Given the description of an element on the screen output the (x, y) to click on. 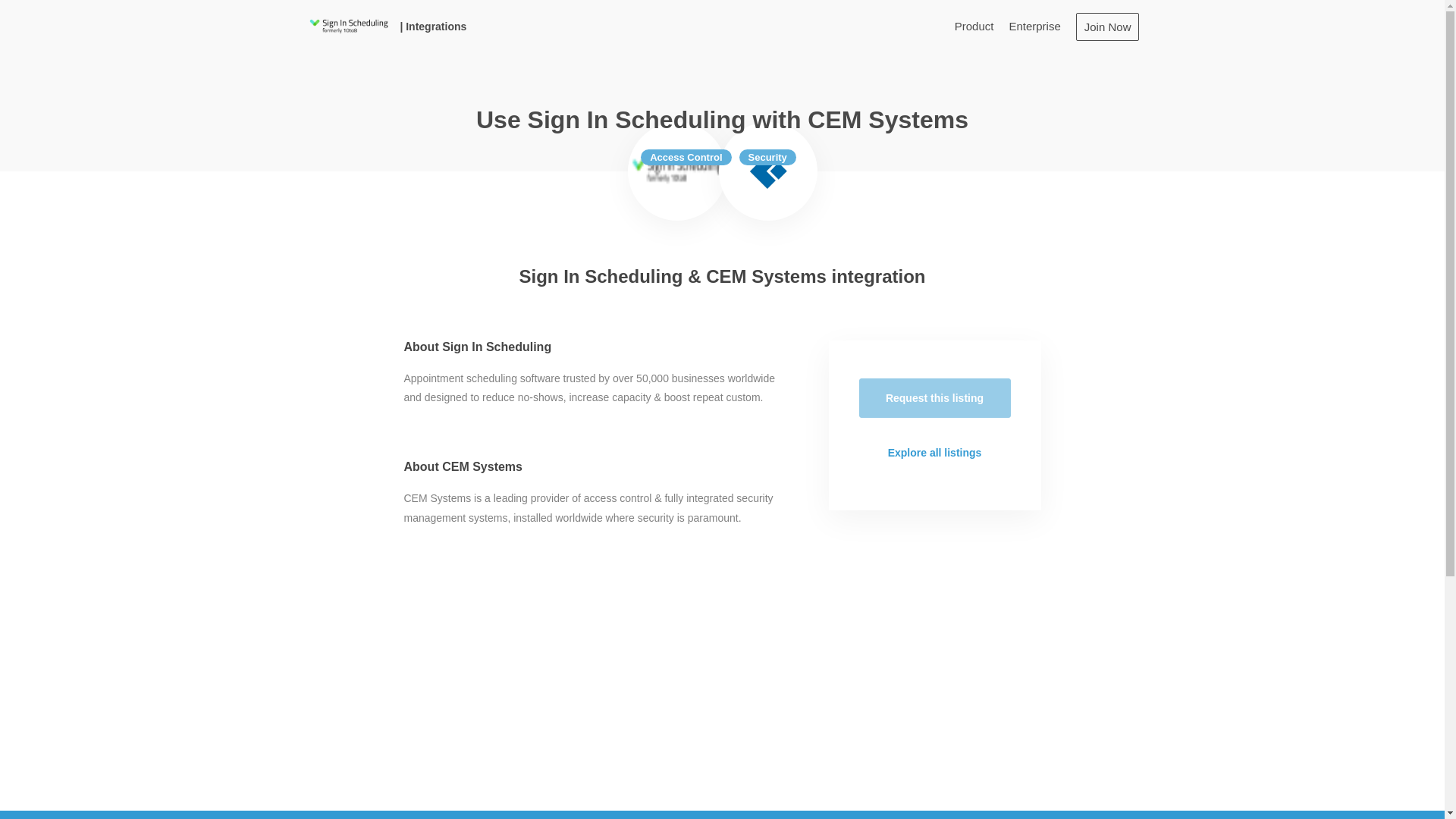
Sign In Scheduling (347, 26)
Product (974, 25)
Explore all listings (934, 452)
Enterprise (1034, 25)
CEM Systems (768, 171)
Request this listing (934, 397)
Sign In Scheduling (676, 171)
Join Now (1107, 26)
